Given the description of an element on the screen output the (x, y) to click on. 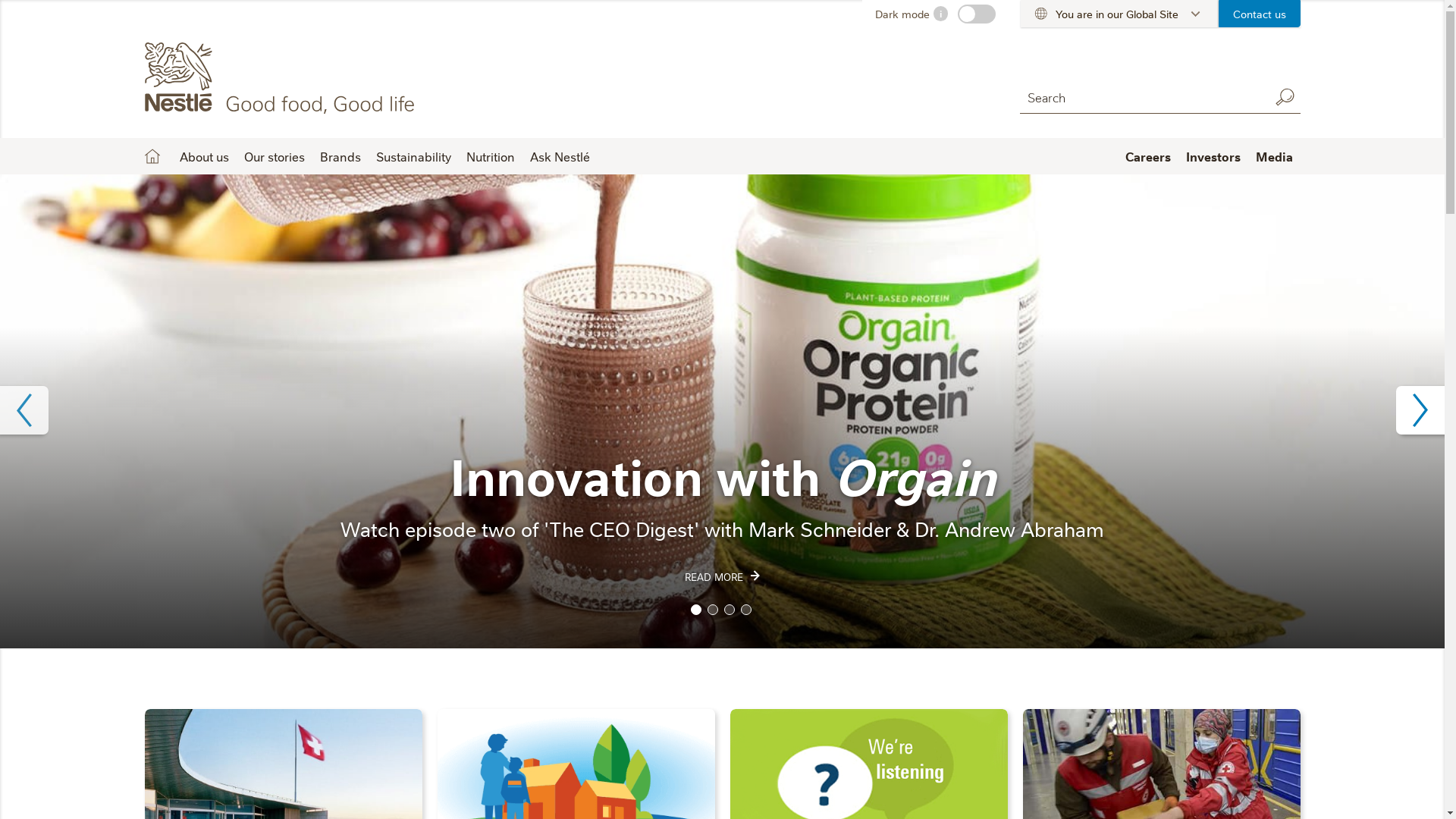
About us Element type: text (203, 156)
Search Element type: text (1284, 96)
You are in our Global Site Element type: text (1118, 13)
4 Element type: text (745, 609)
Orgain product Element type: hover (722, 410)
1 Element type: text (695, 609)
Sustainability Element type: text (413, 156)
Next Element type: text (1420, 409)
Investors Element type: text (1213, 156)
i Element type: text (940, 13)
Home Element type: hover (281, 77)
Brands Element type: text (340, 156)
Our stories Element type: text (274, 156)
3 Element type: text (728, 609)
Home Element type: text (151, 155)
2 Element type: text (711, 609)
Skip to main content Element type: text (0, 0)
Nutrition Element type: text (489, 156)
Previous Element type: text (24, 409)
Media Element type: text (1274, 156)
Careers Element type: text (1147, 156)
Contact us Element type: text (1259, 13)
